Given the description of an element on the screen output the (x, y) to click on. 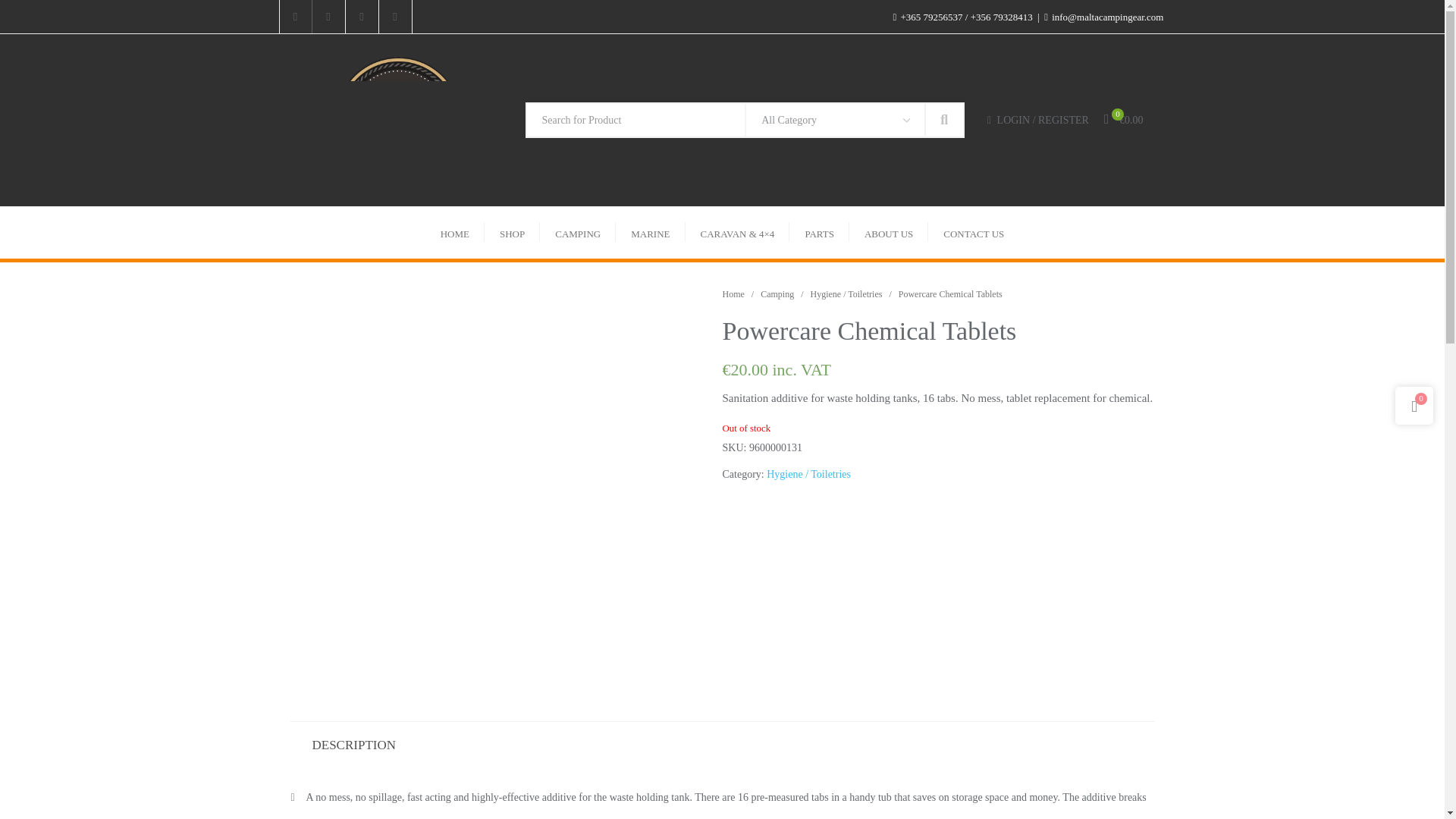
Shopping Cart (1115, 120)
HOME (454, 232)
MARINE (649, 232)
Search (943, 119)
CAMPING (577, 232)
SHOP (512, 232)
